Given the description of an element on the screen output the (x, y) to click on. 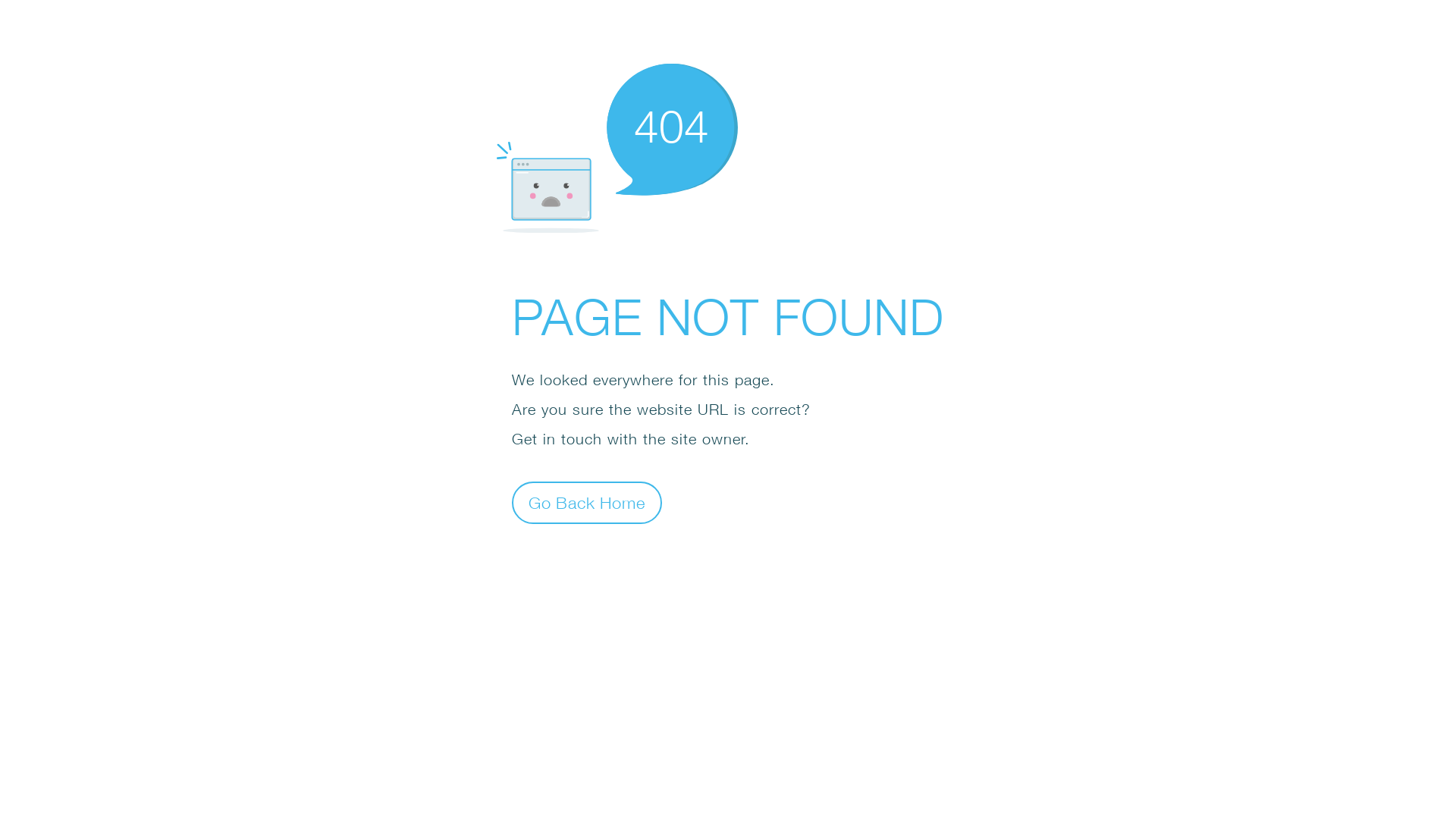
Go Back Home Element type: text (586, 502)
